Given the description of an element on the screen output the (x, y) to click on. 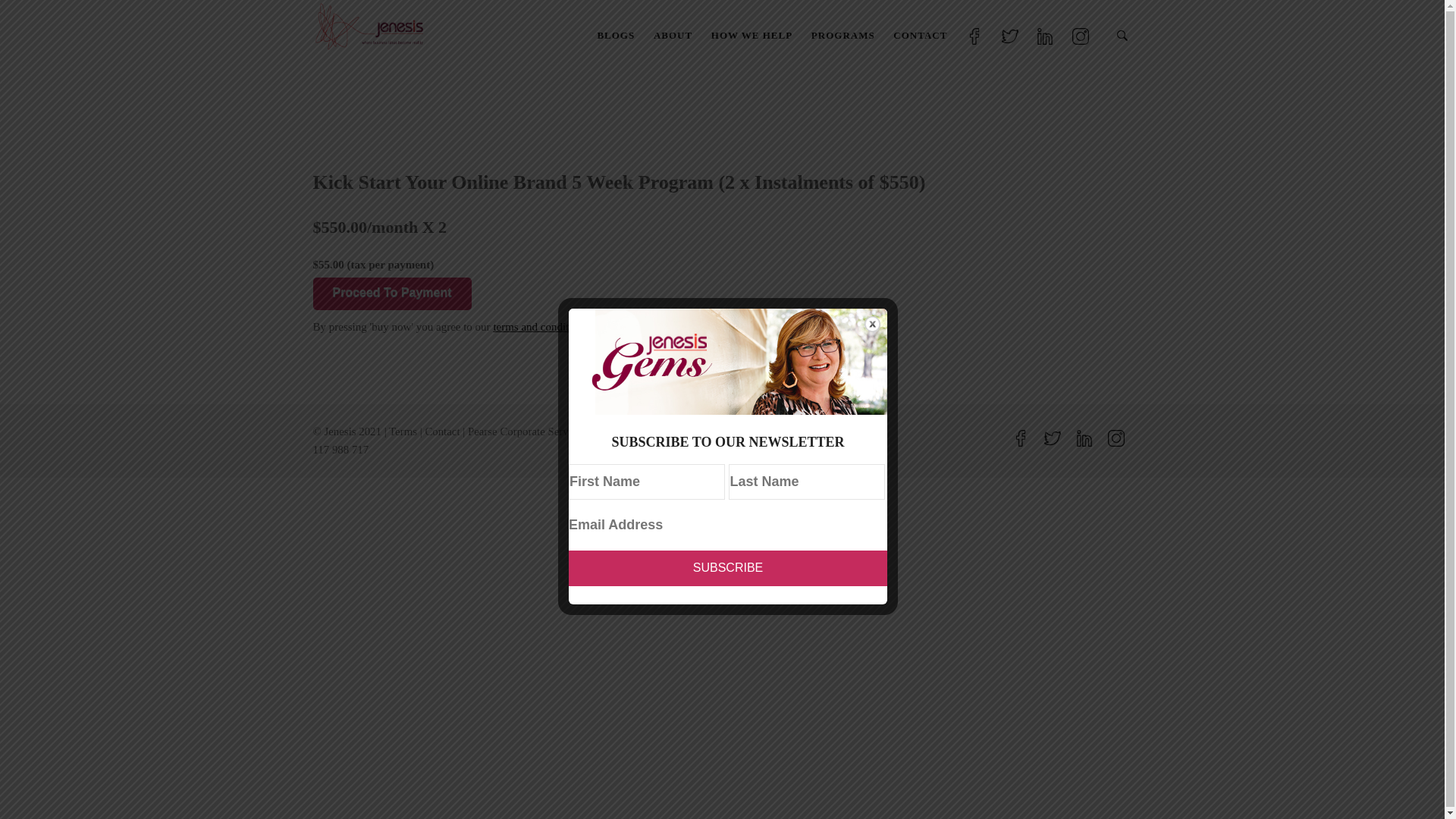
Jenesis Consulting Element type: text (782, 146)
HOW WE HELP Element type: text (751, 22)
CONTACT Element type: text (920, 22)
Proceed To Payment Element type: text (391, 293)
terms and conditions Element type: text (539, 326)
BLOGS Element type: text (615, 22)
ABOUT Element type: text (673, 22)
Terms Element type: text (403, 431)
Subscribe Element type: text (727, 568)
PROGRAMS Element type: text (842, 22)
Contact Element type: text (441, 431)
